Given the description of an element on the screen output the (x, y) to click on. 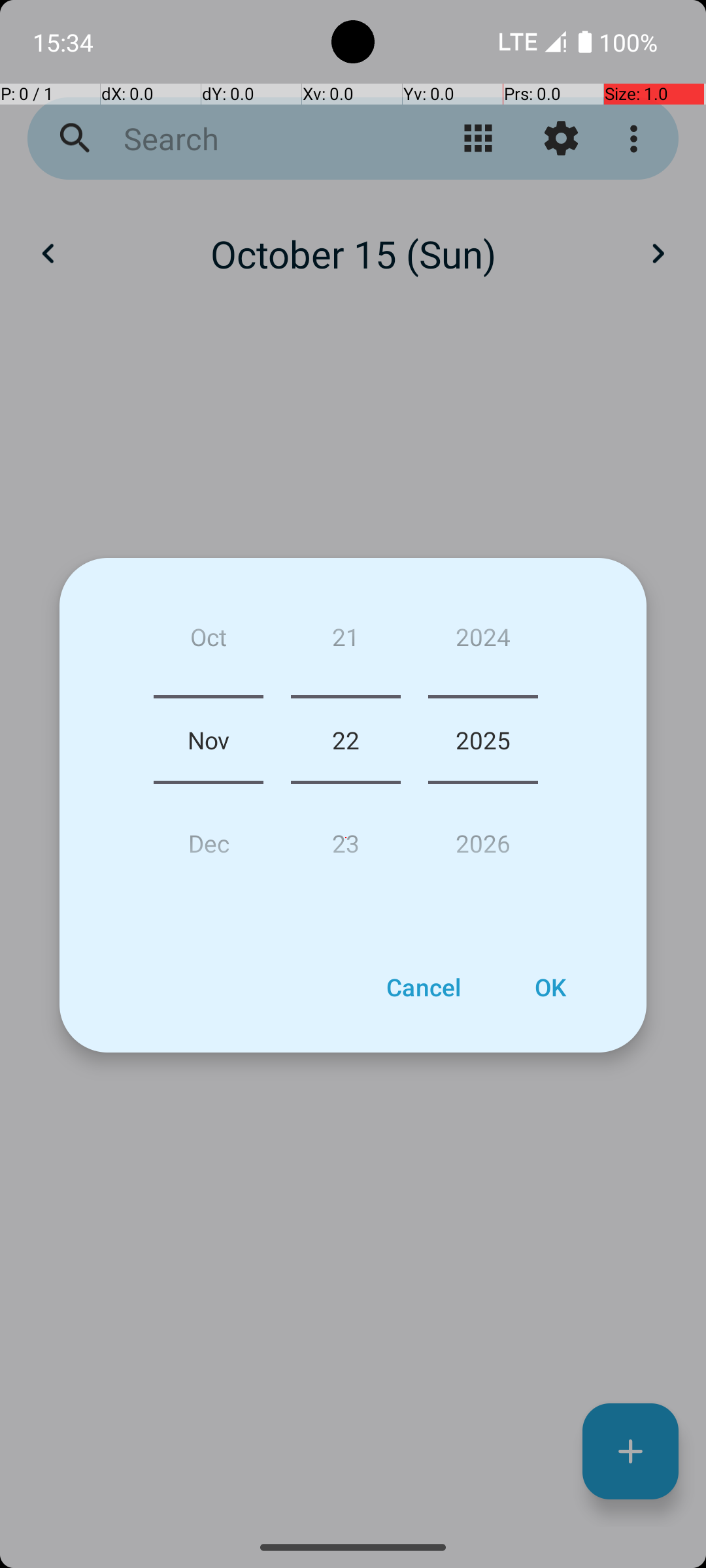
Dec Element type: android.widget.Button (208, 837)
2026 Element type: android.widget.Button (482, 837)
